Given the description of an element on the screen output the (x, y) to click on. 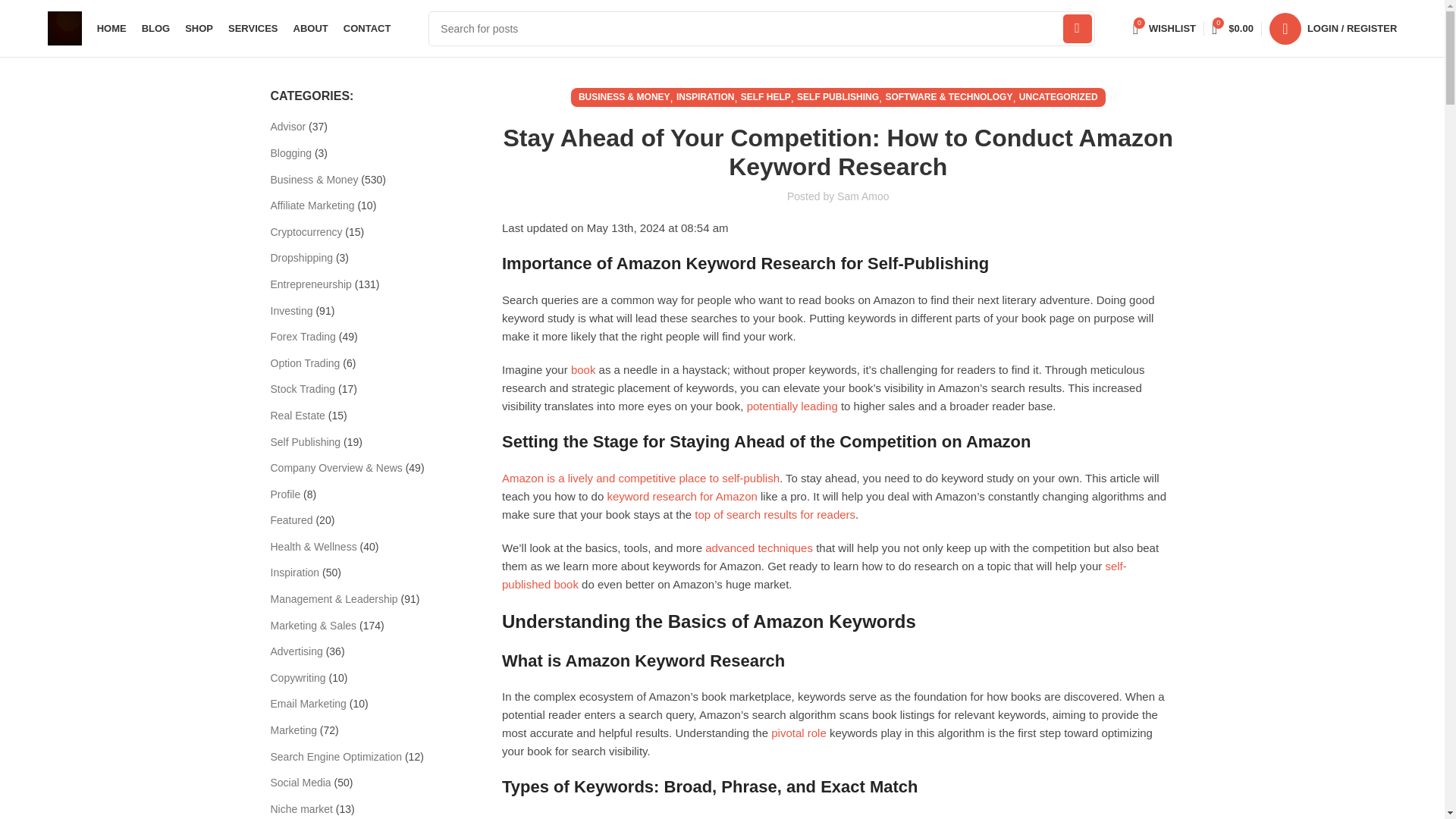
CONTACT (367, 28)
Amazon Keyword Research Services (682, 495)
Books (582, 369)
Search for posts (761, 27)
advanced techniques (758, 547)
SEARCH (1077, 27)
Step-by-Step Guide to Self-Publishing on Amazon KDP (640, 477)
SERVICES (253, 28)
15 top Advantages of Adobe Acrobat Reader (775, 513)
ABOUT (311, 28)
SELF HELP (765, 97)
Sam Amoo (862, 196)
INSPIRATION (705, 97)
